Given the description of an element on the screen output the (x, y) to click on. 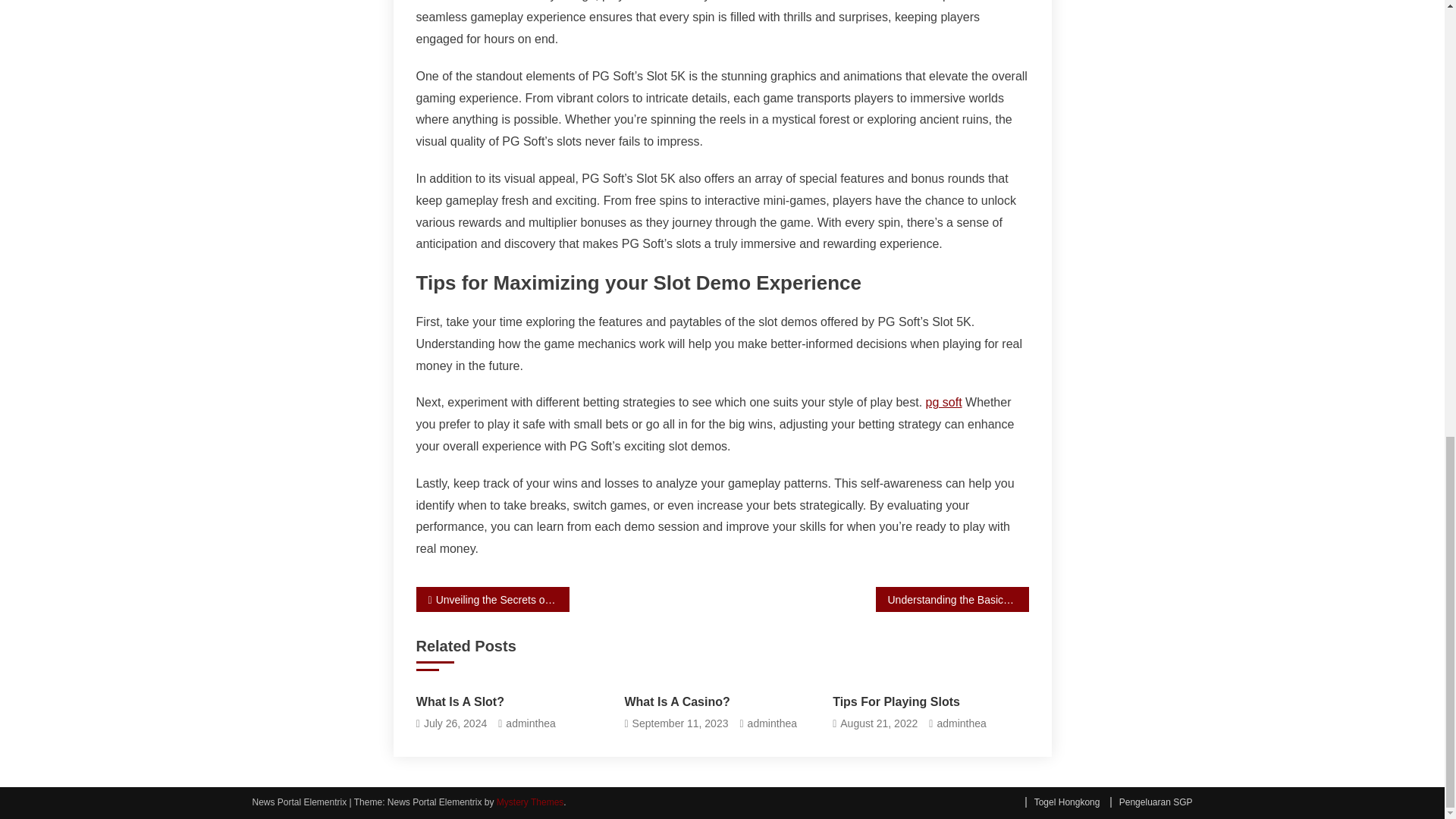
Togel Hongkong (1062, 801)
adminthea (960, 723)
Pengeluaran SGP (1150, 801)
Mystery Themes (529, 801)
adminthea (772, 723)
adminthea (529, 723)
September 11, 2023 (680, 723)
What Is A Casino? (721, 701)
What Is A Slot? (513, 701)
